Given the description of an element on the screen output the (x, y) to click on. 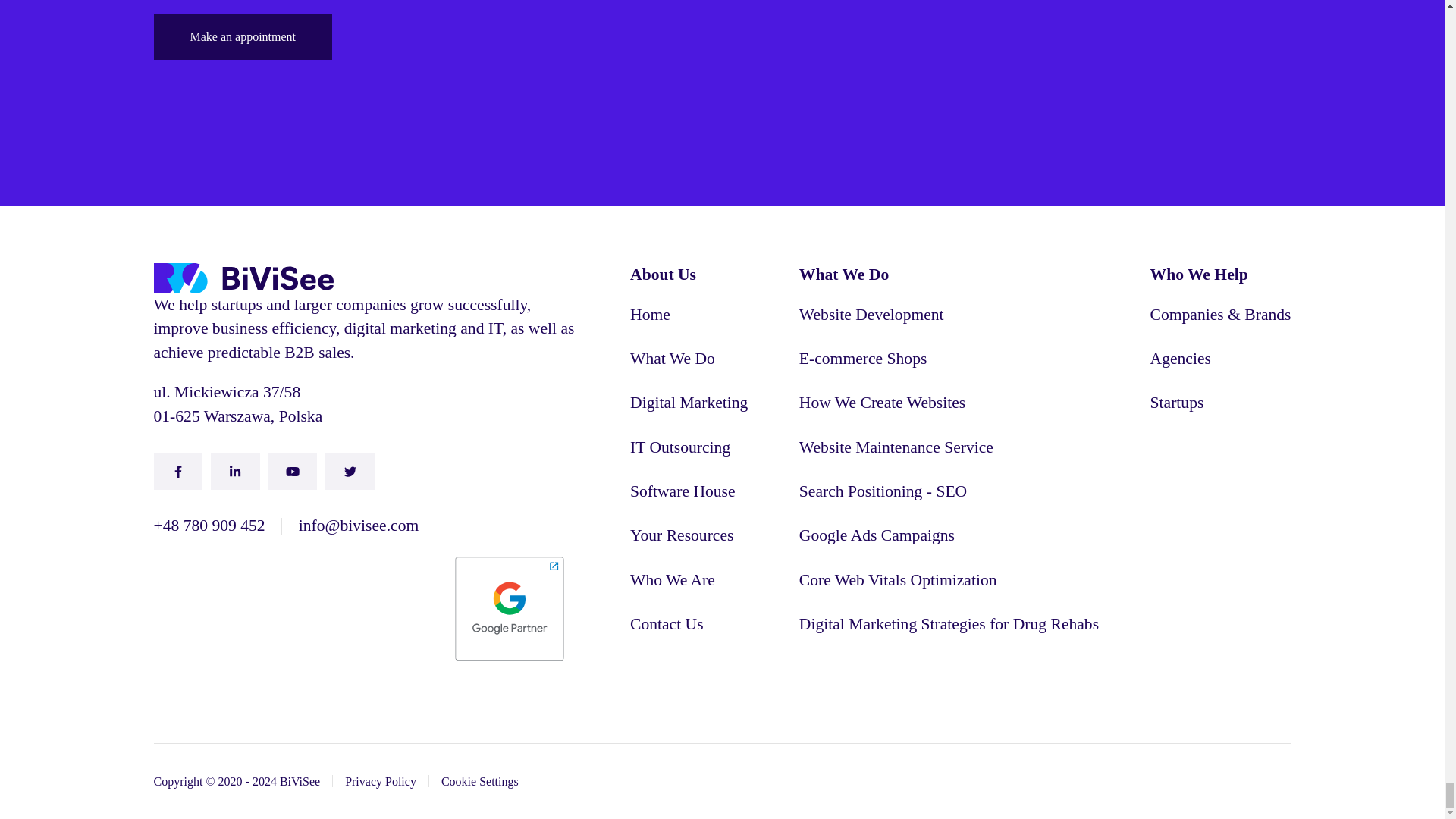
BiViSee - LinkedIn (235, 470)
BiViSee - YouTube (292, 470)
BiViSee - Facebook (177, 470)
BiViSee (242, 277)
BiViSee - Twitter (349, 470)
